Given the description of an element on the screen output the (x, y) to click on. 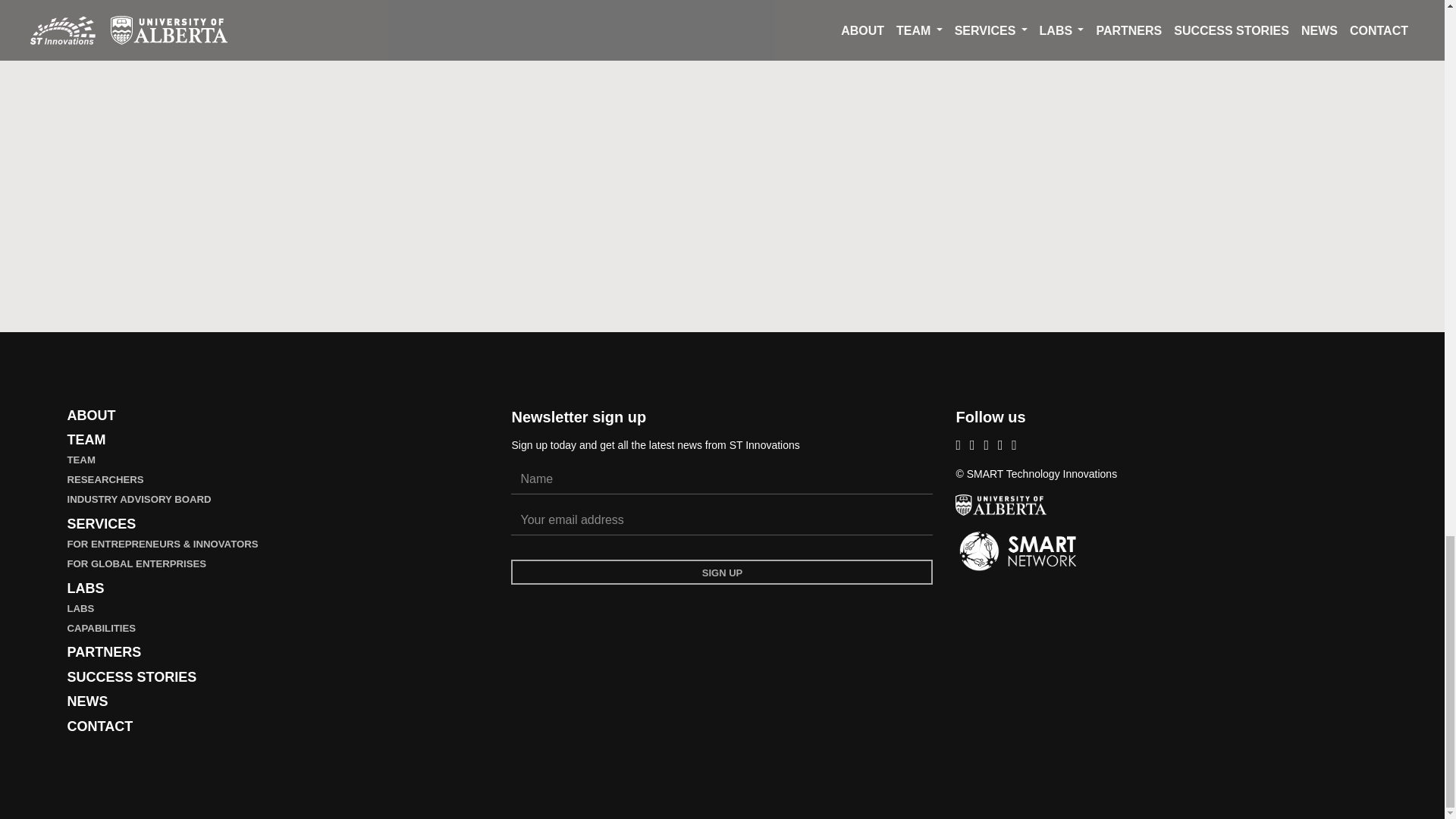
INDUSTRY ADVISORY BOARD (138, 499)
Sign up (722, 572)
ABOUT (90, 415)
RESEARCHERS (104, 479)
LABS (80, 608)
NEWS (86, 701)
TEAM (85, 439)
FOR GLOBAL ENTERPRISES (136, 563)
LABS (84, 588)
SERVICES (100, 523)
